Given the description of an element on the screen output the (x, y) to click on. 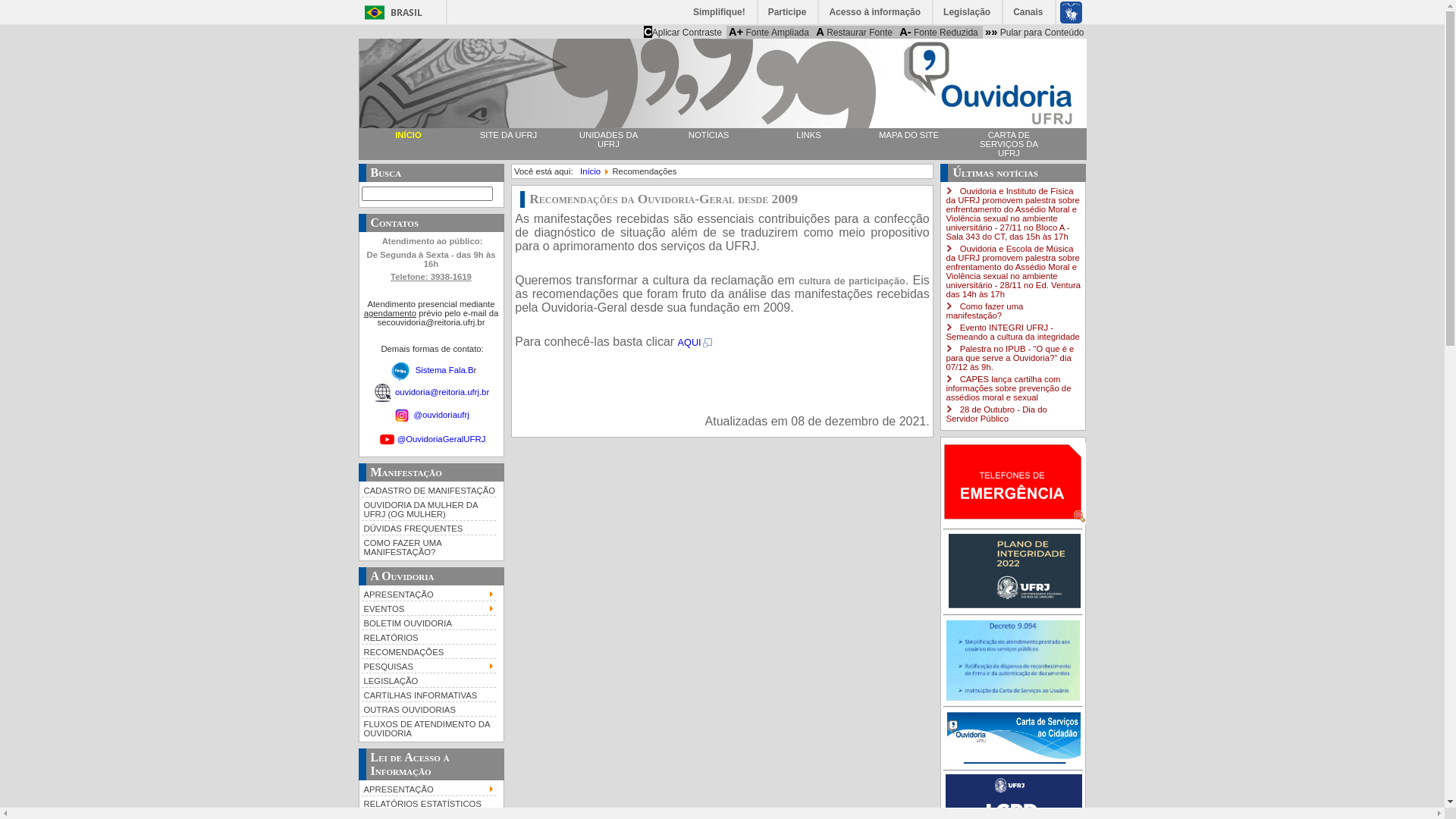
A Restaurar Fonte Element type: text (853, 31)
FLUXOS DE ATENDIMENTO DA OUVIDORIA Element type: text (427, 727)
CAplicar Contraste Element type: text (682, 31)
Simplifique! Element type: text (719, 11)
OUTRAS OUVIDORIAS Element type: text (427, 708)
PESQUISAS Element type: text (427, 665)
BOLETIM OUVIDORIA Element type: text (427, 622)
OUVIDORIA DA MULHER DA UFRJ (OG MULHER) Element type: text (427, 508)
SITE DA UFRJ Element type: text (508, 134)
EVENTOS Element type: text (427, 607)
A+ Fonte Ampliada Element type: text (768, 31)
Evento INTEGRI UFRJ - Semeando a cultura da integridade Element type: text (1012, 332)
AQUI Element type: text (695, 342)
Participe Element type: text (788, 11)
BRASIL Element type: text (389, 12)
CARTILHAS INFORMATIVAS Element type: text (427, 694)
A- Fonte Reduzida Element type: text (938, 31)
Canais Element type: text (1028, 11)
 @ouvidoriaufrj Element type: text (430, 414)
UNIDADES DA UFRJ Element type: text (608, 139)
Sistema Fala.B Element type: text (444, 368)
LINKS Element type: text (808, 134)
ouvidoria@reitoria.ufrj.br Element type: text (442, 391)
MAPA DO SITE Element type: text (908, 134)
@OuvidoriaGeralUFRJ Element type: text (441, 437)
  Element type: text (1013, 604)
